Given the description of an element on the screen output the (x, y) to click on. 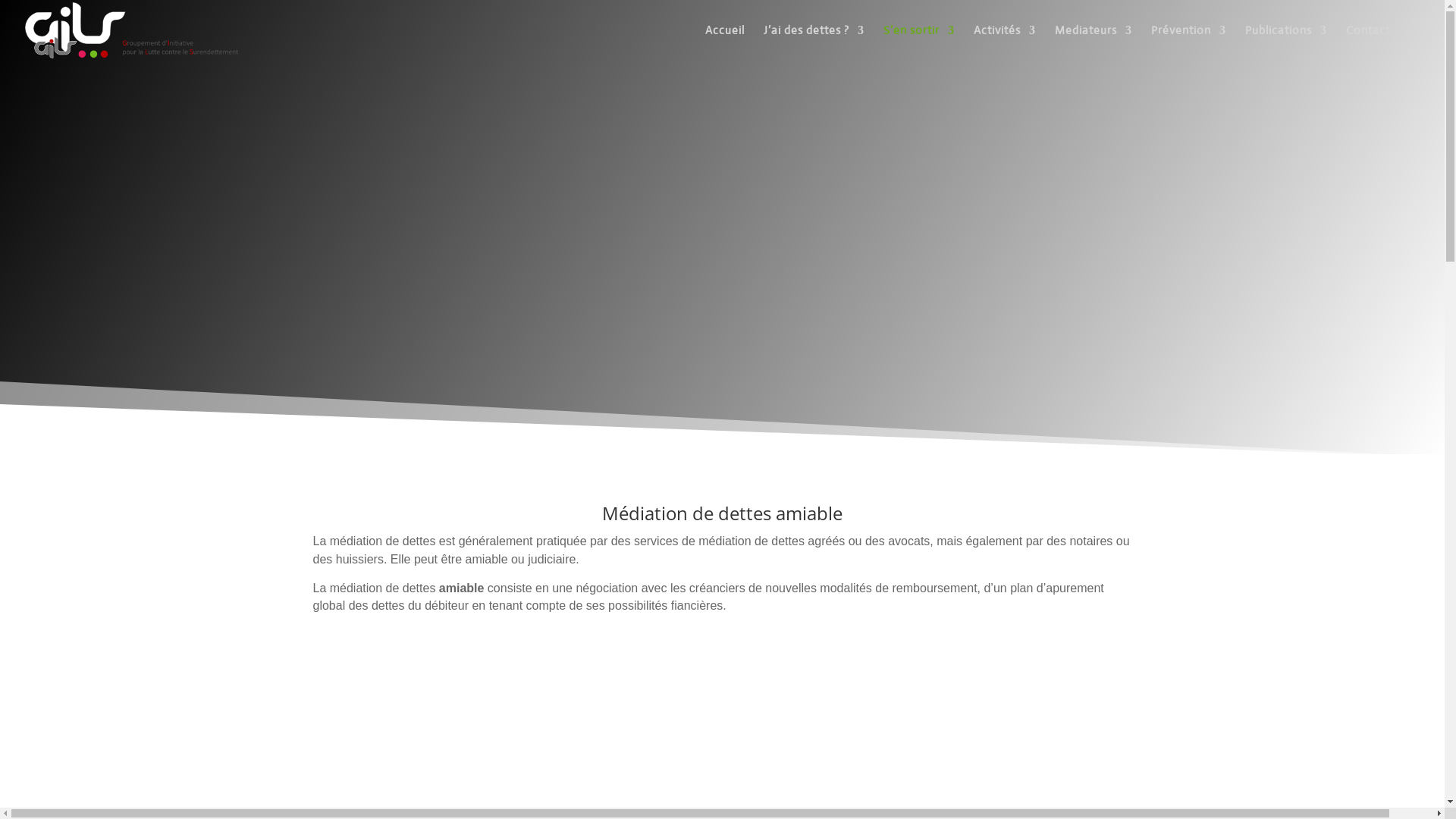
Contact Element type: text (1368, 42)
Accueil Element type: text (724, 42)
Mediateurs Element type: text (1093, 42)
Publications Element type: text (1286, 42)
